Given the description of an element on the screen output the (x, y) to click on. 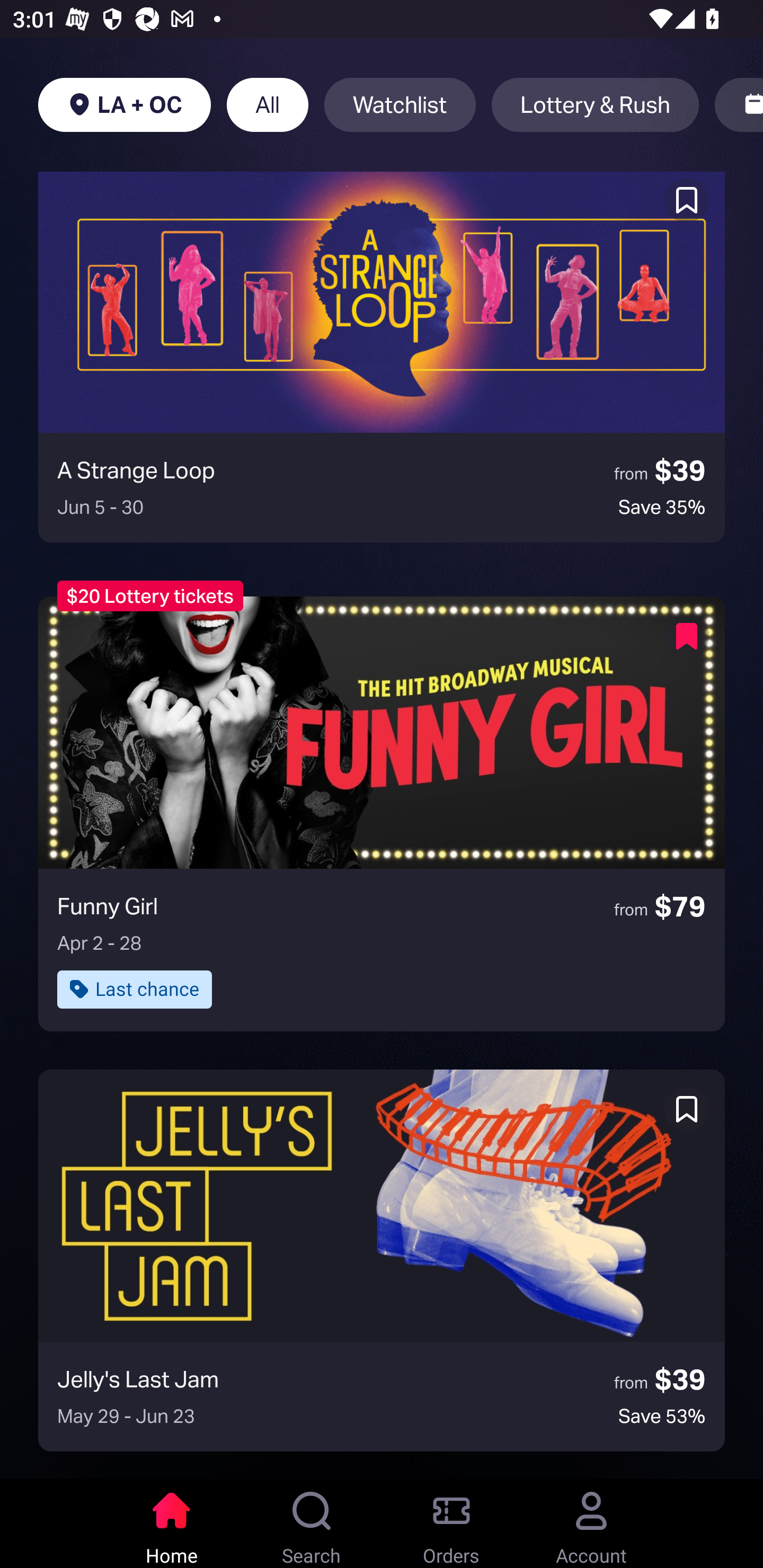
LA + OC (124, 104)
All (267, 104)
Watchlist (400, 104)
Lottery & Rush (594, 104)
A Strange Loop from $39 Jun 5 - 30 Save 35% (381, 356)
Funny Girl from $79 Apr 2 - 28 Last chance (381, 813)
Jelly's Last Jam from $39 May 29 - Jun 23 Save 53% (381, 1260)
Search (311, 1523)
Orders (451, 1523)
Account (591, 1523)
